Given the description of an element on the screen output the (x, y) to click on. 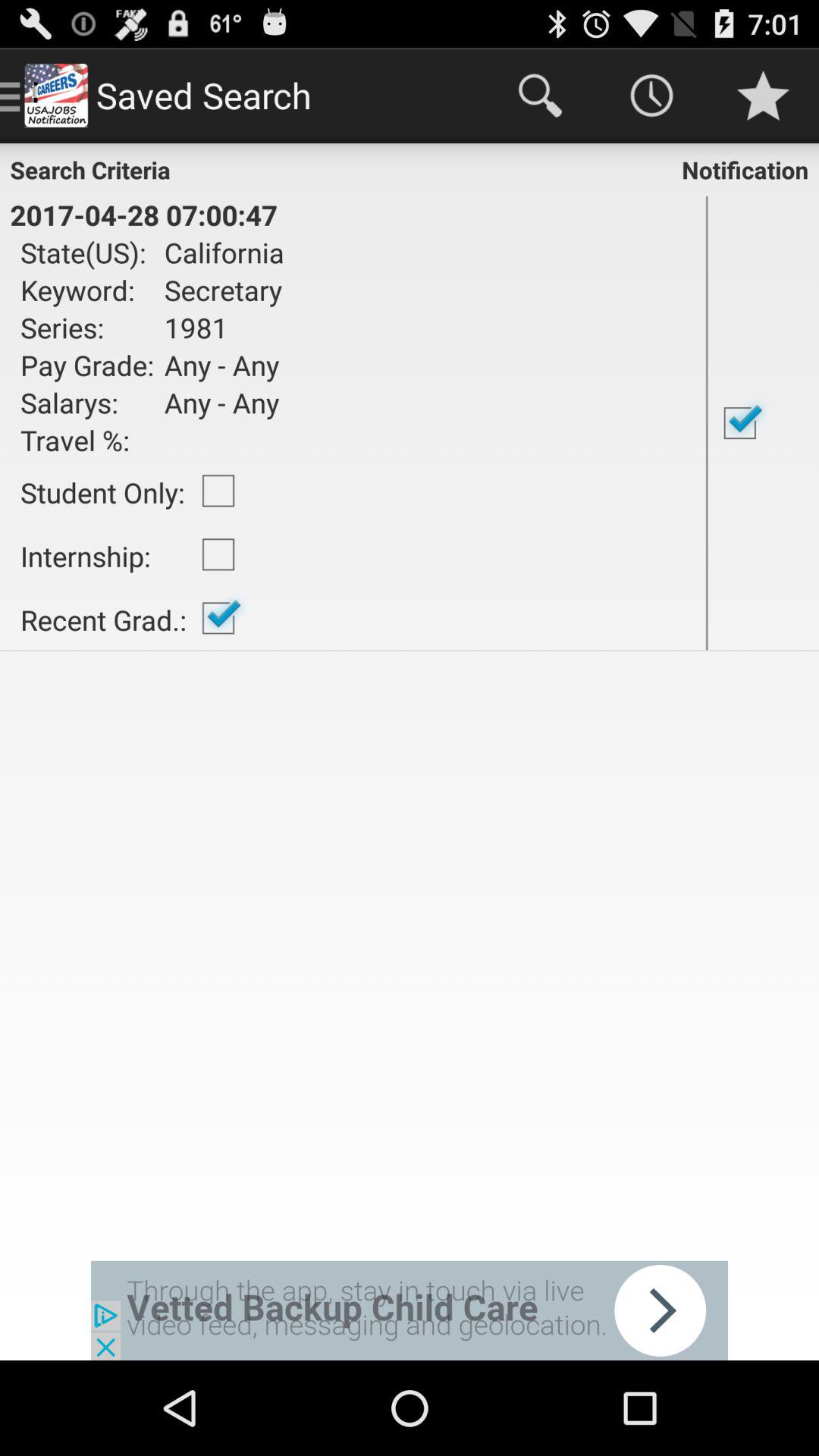
tap the app next to the internship: item (218, 618)
